Given the description of an element on the screen output the (x, y) to click on. 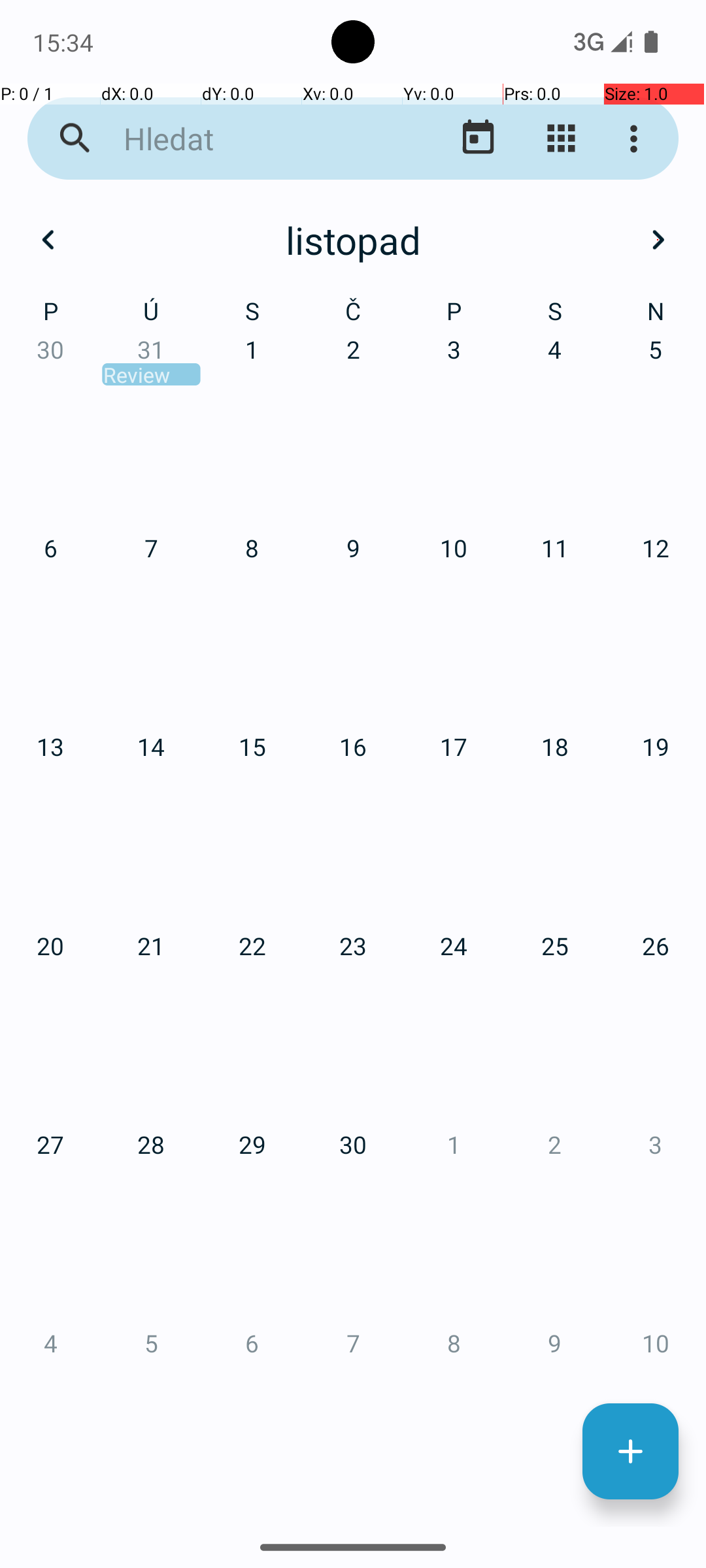
Hledat Element type: android.widget.EditText (252, 138)
Přejít na dnešní datum Element type: android.widget.Button (477, 138)
Změnit zobrazení Element type: android.widget.Button (560, 138)
Další možnosti Element type: android.widget.ImageView (636, 138)
Nová událost Element type: android.widget.ImageButton (630, 1451)
listopad Element type: android.widget.TextView (352, 239)
